Given the description of an element on the screen output the (x, y) to click on. 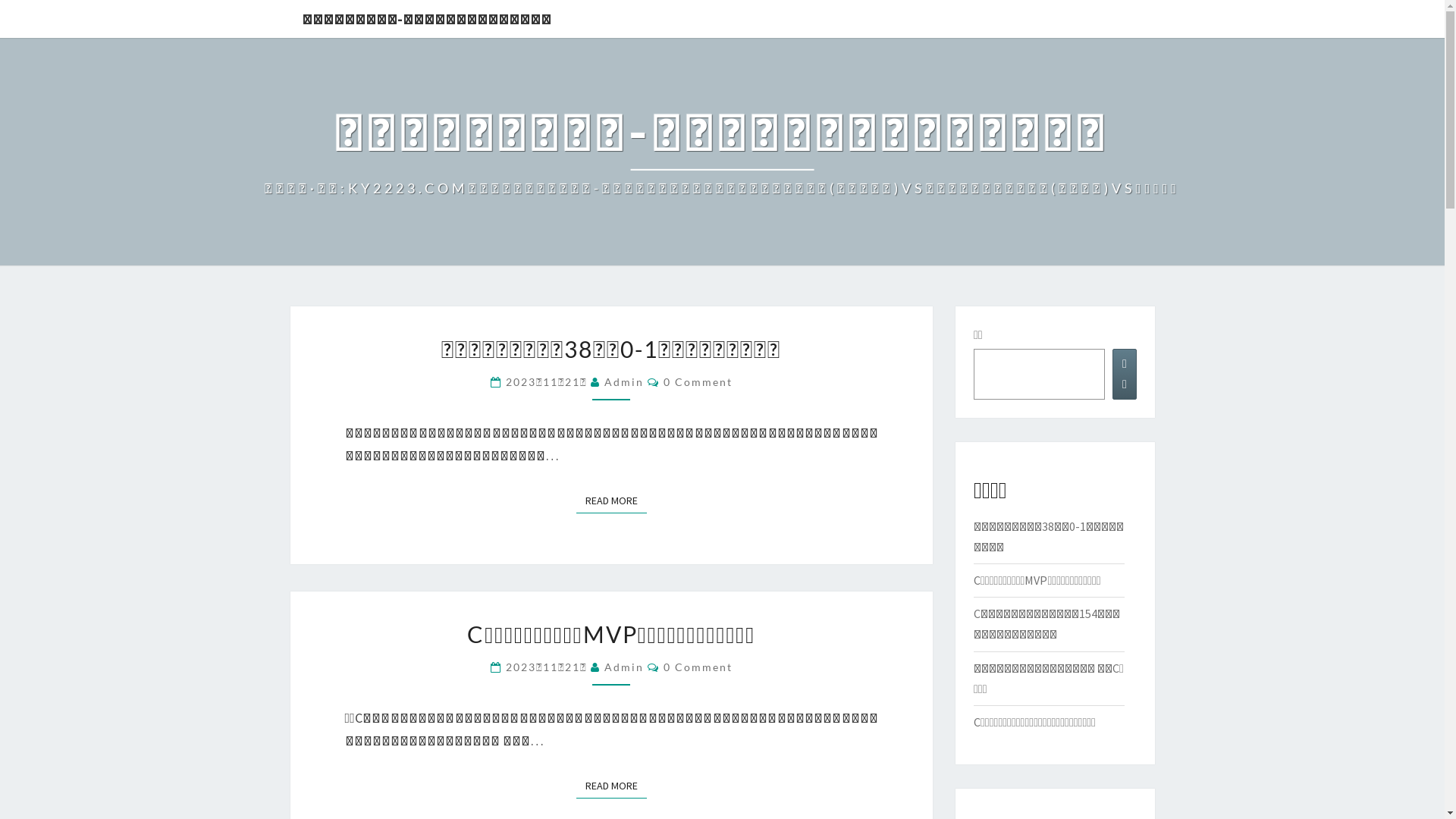
READ MORE
READ MORE Element type: text (611, 500)
READ MORE
READ MORE Element type: text (611, 785)
0 Comment Element type: text (697, 381)
Admin Element type: text (623, 381)
Admin Element type: text (623, 666)
0 Comment Element type: text (697, 666)
